Given the description of an element on the screen output the (x, y) to click on. 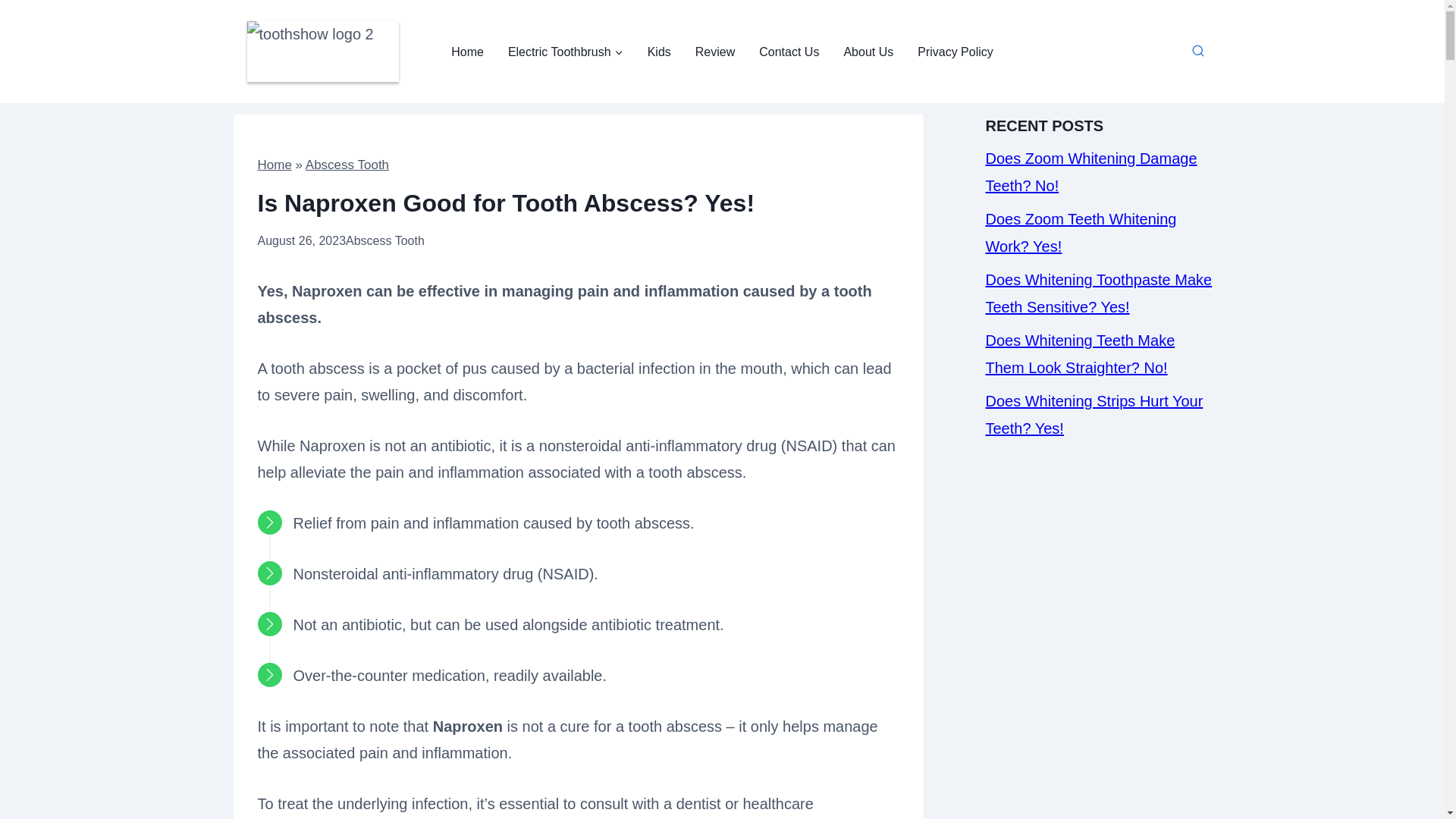
Home (467, 51)
Contact Us (788, 51)
Review (714, 51)
Abscess Tooth (346, 164)
Home (274, 164)
Privacy Policy (955, 51)
Electric Toothbrush (565, 51)
Abscess Tooth (385, 240)
Kids (658, 51)
About Us (868, 51)
